Given the description of an element on the screen output the (x, y) to click on. 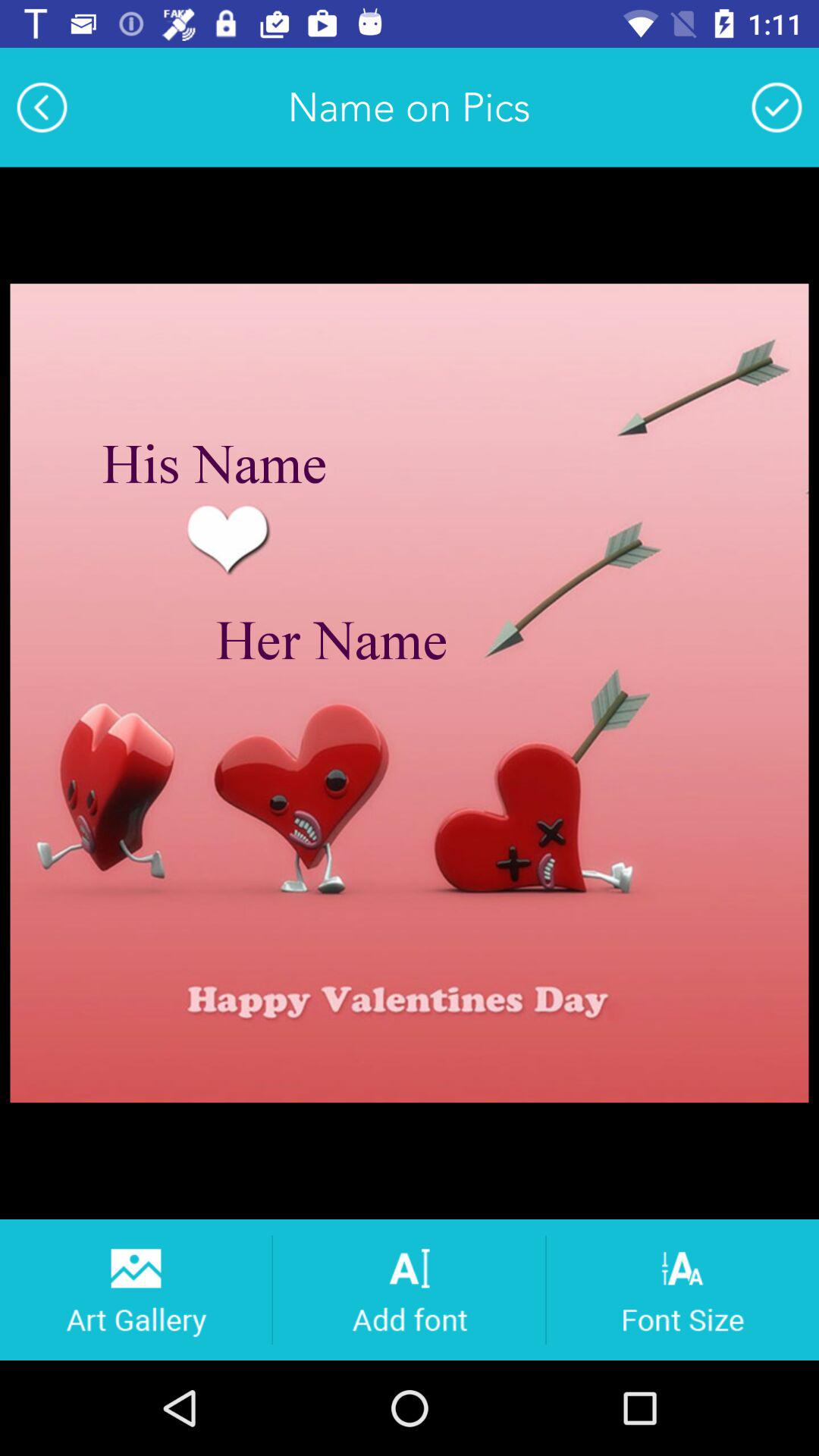
go back (41, 107)
